Given the description of an element on the screen output the (x, y) to click on. 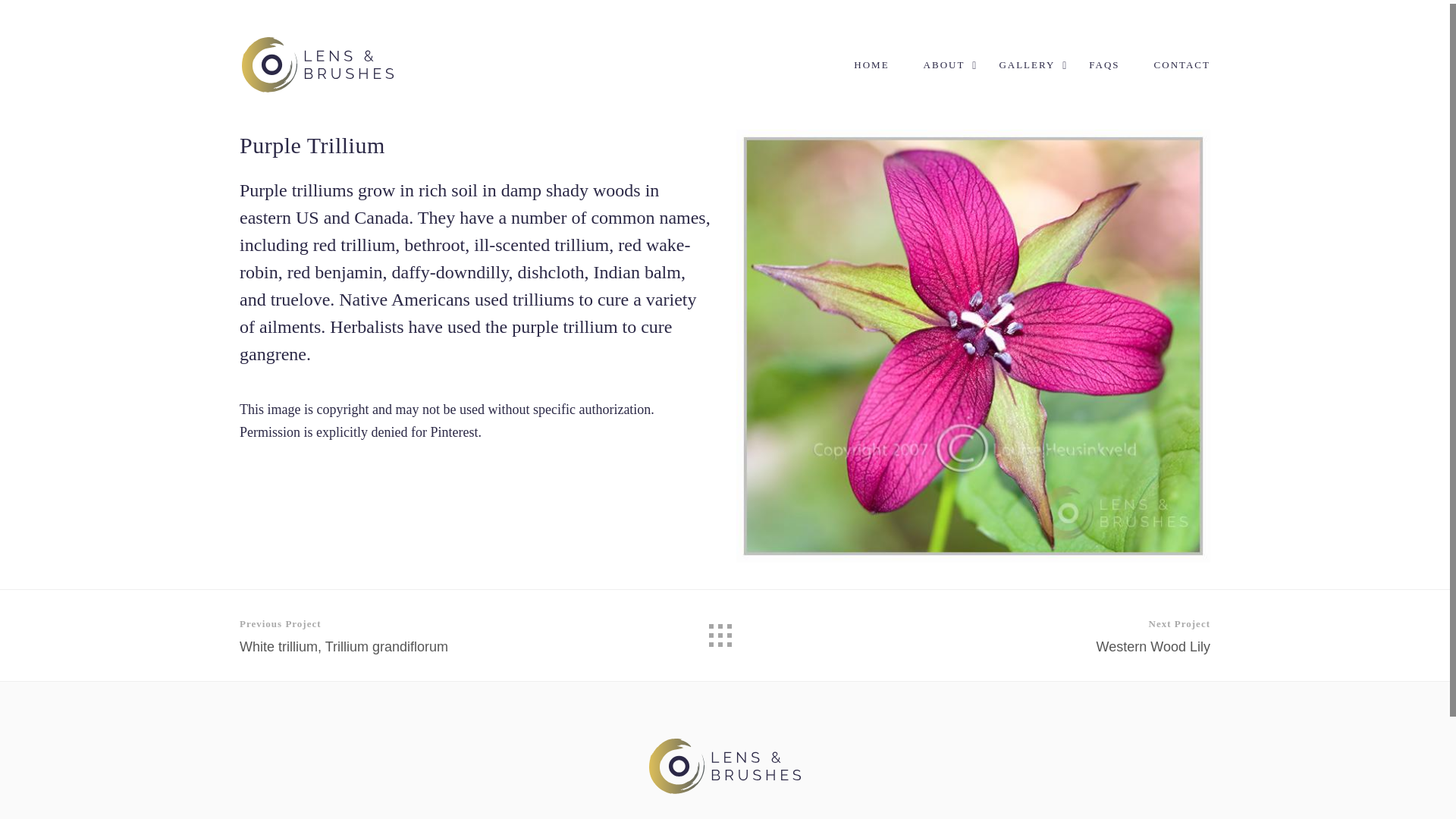
HOME (870, 87)
Lens and Brushes (399, 634)
Purple trillium, trillium erectum (318, 64)
ABOUT (724, 789)
